Given the description of an element on the screen output the (x, y) to click on. 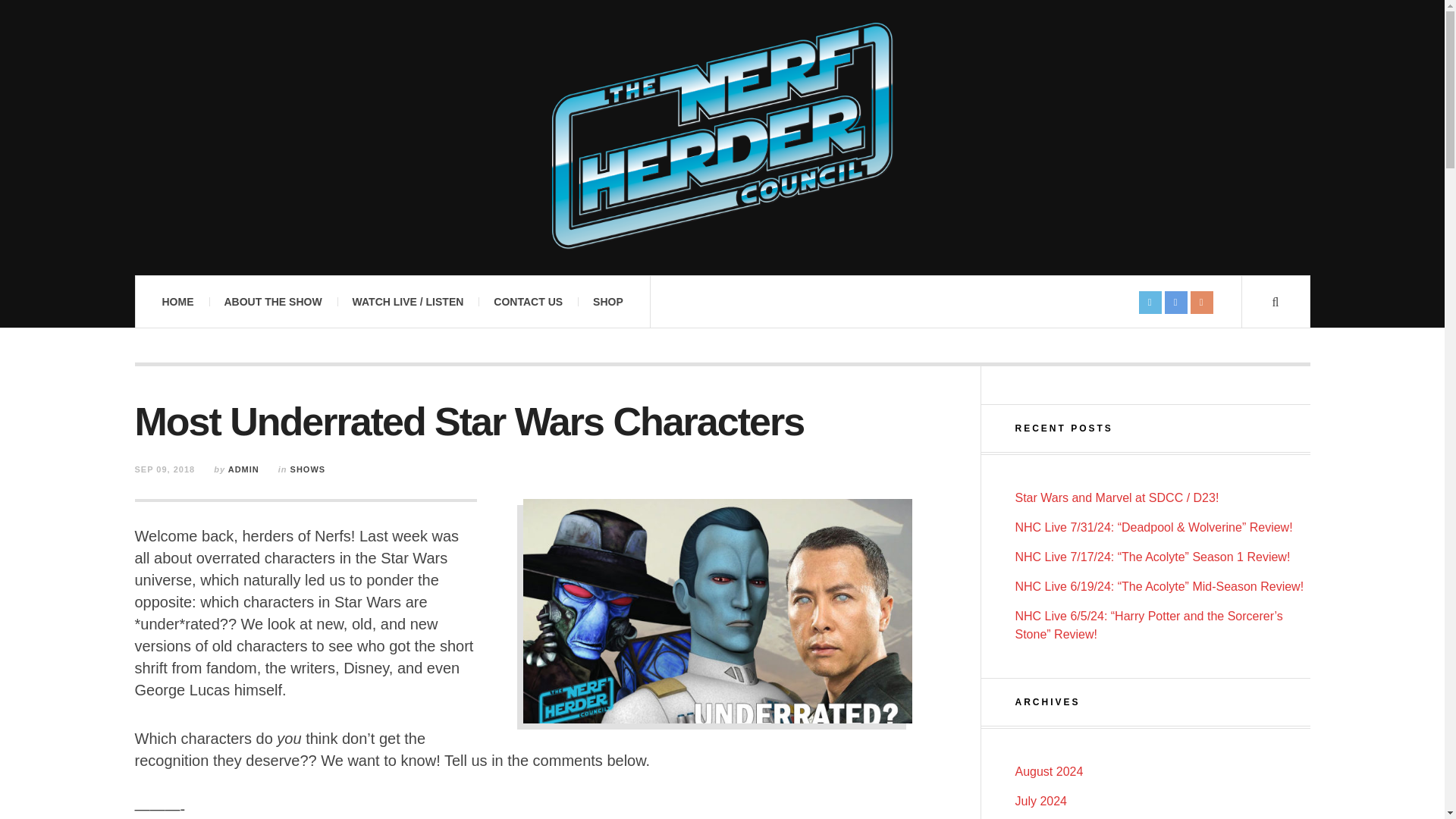
View all posts in Shows (307, 469)
ABOUT THE SHOW (273, 301)
ADMIN (243, 469)
HOME (178, 301)
The Nerfherder Council (722, 135)
SHOWS (307, 469)
SHOP (608, 301)
CONTACT US (528, 301)
